Given the description of an element on the screen output the (x, y) to click on. 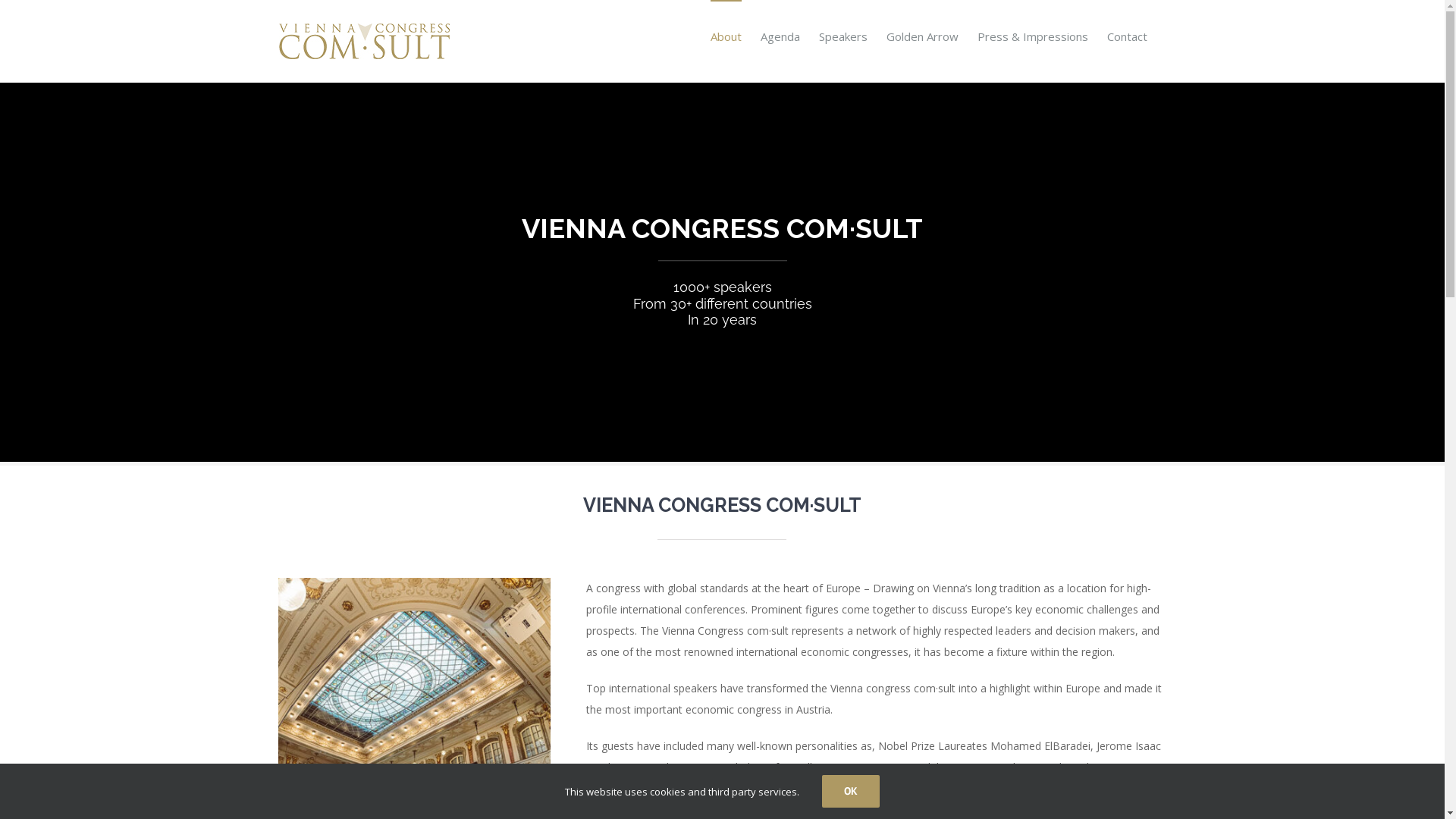
Press & Impressions Element type: text (1031, 36)
Golden Arrow Element type: text (921, 36)
Contact Element type: text (1127, 36)
Agenda Element type: text (779, 36)
Speakers Element type: text (843, 36)
OK Element type: text (850, 791)
About Element type: text (724, 36)
